Given the description of an element on the screen output the (x, y) to click on. 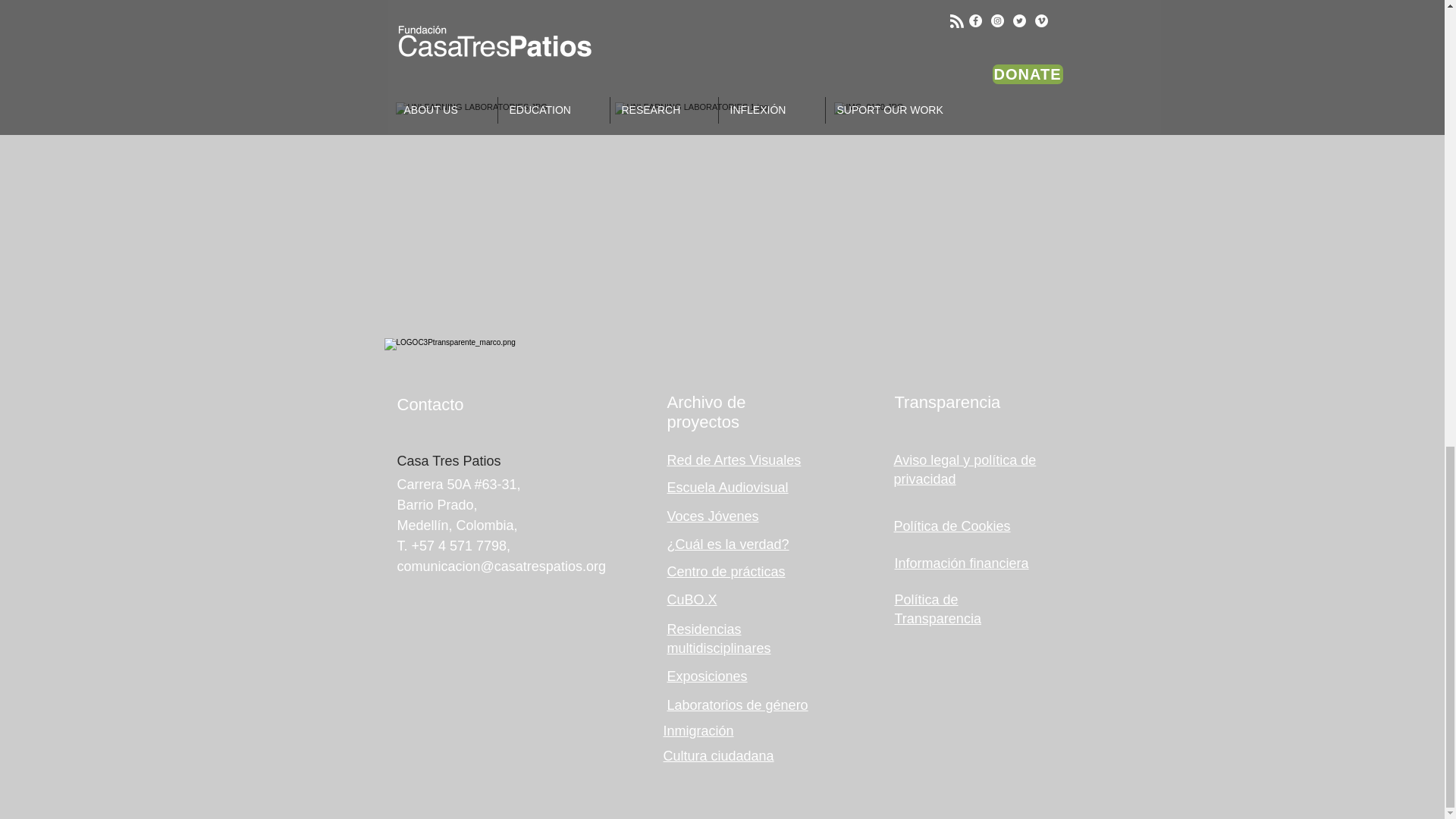
Red de Artes Visuales (734, 459)
Cultura ciudadana (717, 755)
Exposiciones (707, 676)
Residencias multidisciplinares (718, 638)
CuBO.X (691, 599)
C3P blanco.png (488, 366)
Escuela Audiovisual (727, 487)
